Given the description of an element on the screen output the (x, y) to click on. 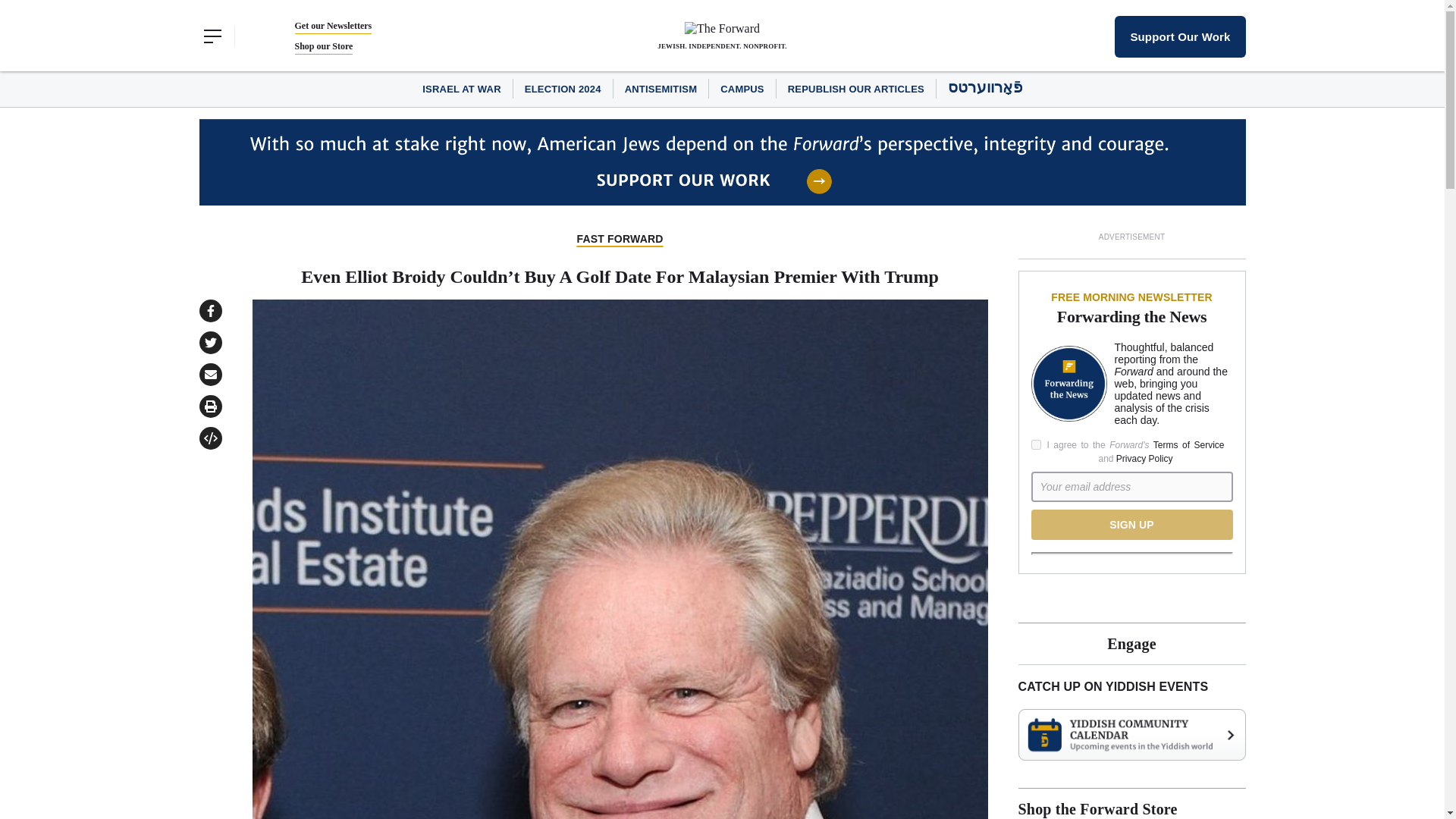
Shop our Store (323, 46)
Get our Newsletters (332, 26)
Click to open publish popup (209, 437)
ANTISEMITISM (660, 89)
Support Our Work (1179, 35)
Sign Up (1131, 524)
ISRAEL AT WAR (461, 89)
Yes (1035, 444)
ELECTION 2024 (562, 89)
